Given the description of an element on the screen output the (x, y) to click on. 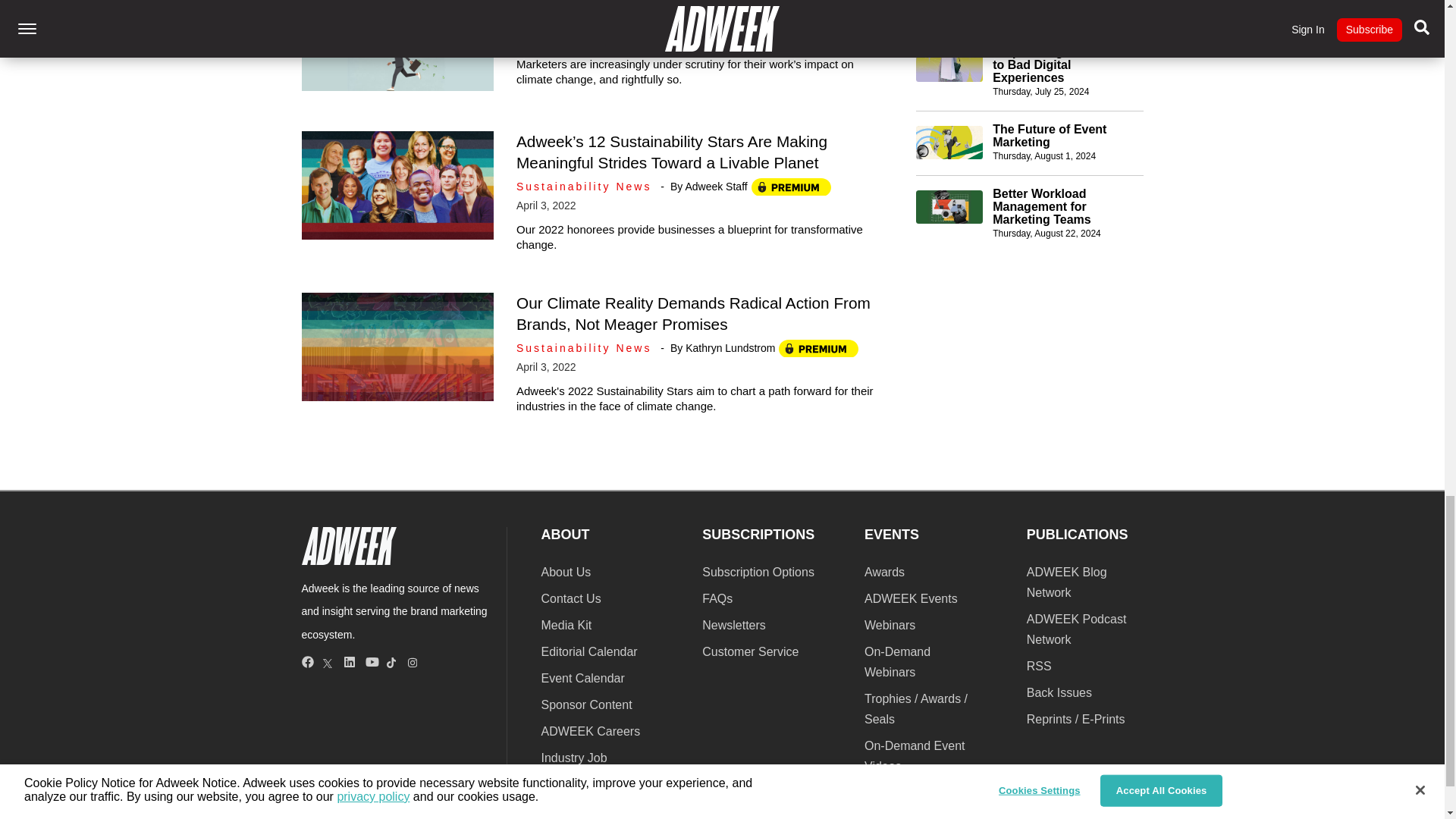
Adobe-Webinar-082224-Header (948, 206)
CventWebinar08012Header (948, 142)
